Given the description of an element on the screen output the (x, y) to click on. 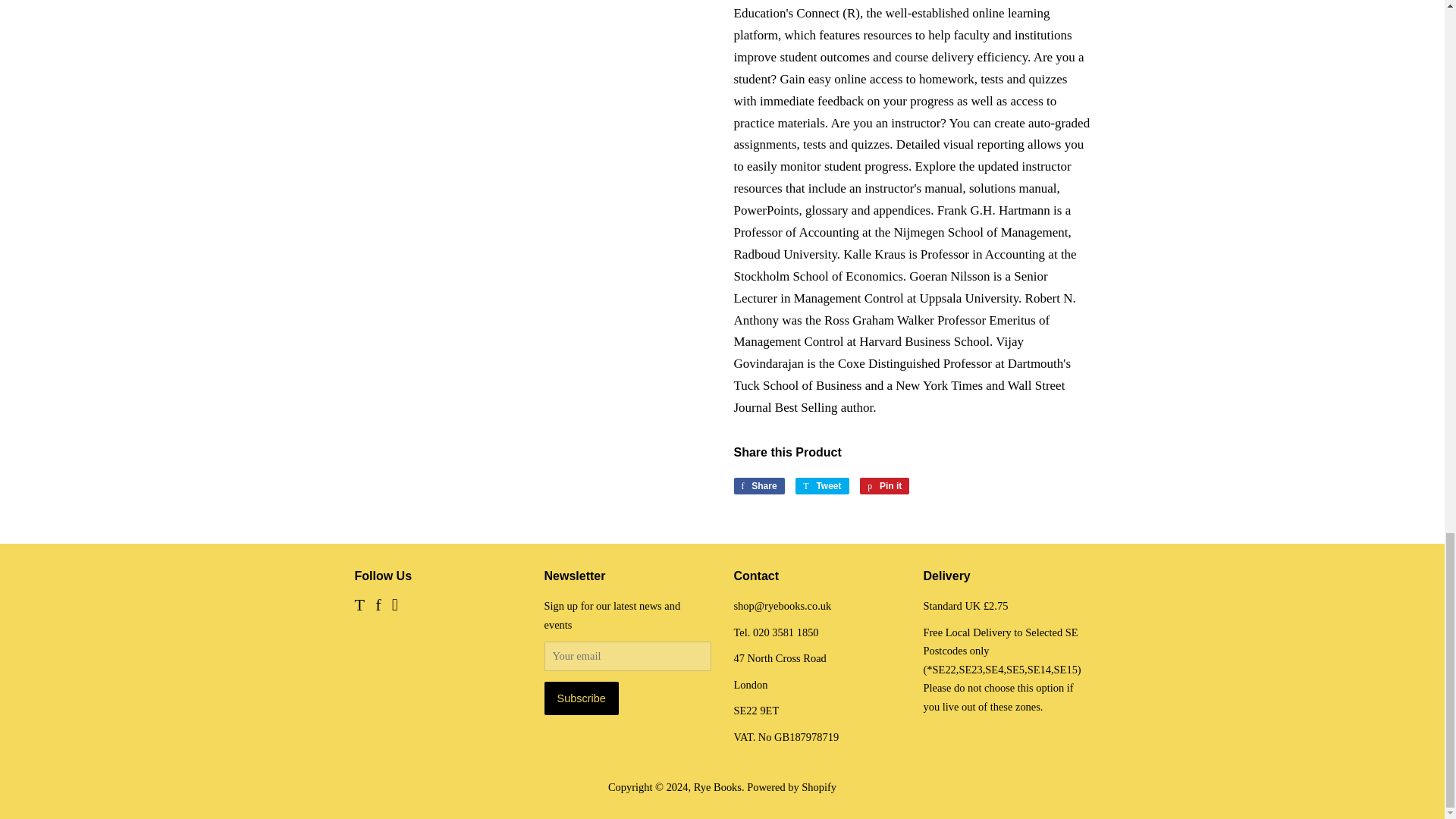
Subscribe (581, 697)
Rye Books on Instagram (394, 606)
Tweet on Twitter (821, 485)
Rye Books on Twitter (360, 606)
Rye Books on Facebook (377, 606)
Pin on Pinterest (884, 485)
Share on Facebook (758, 485)
